Given the description of an element on the screen output the (x, y) to click on. 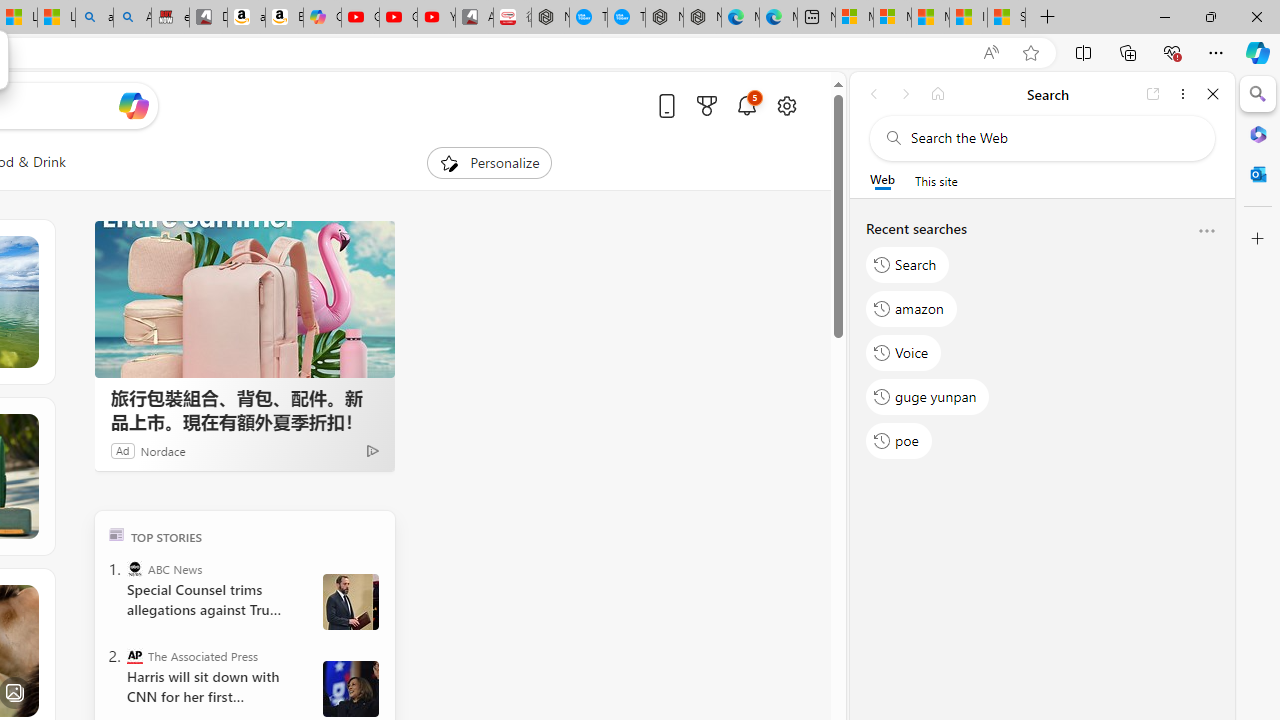
Personalize (488, 162)
Microsoft rewards (707, 105)
Voice (904, 352)
Open link in new tab (1153, 93)
The Associated Press (134, 655)
Amazon Echo Dot PNG - Search Images (132, 17)
Forward (906, 93)
